Given the description of an element on the screen output the (x, y) to click on. 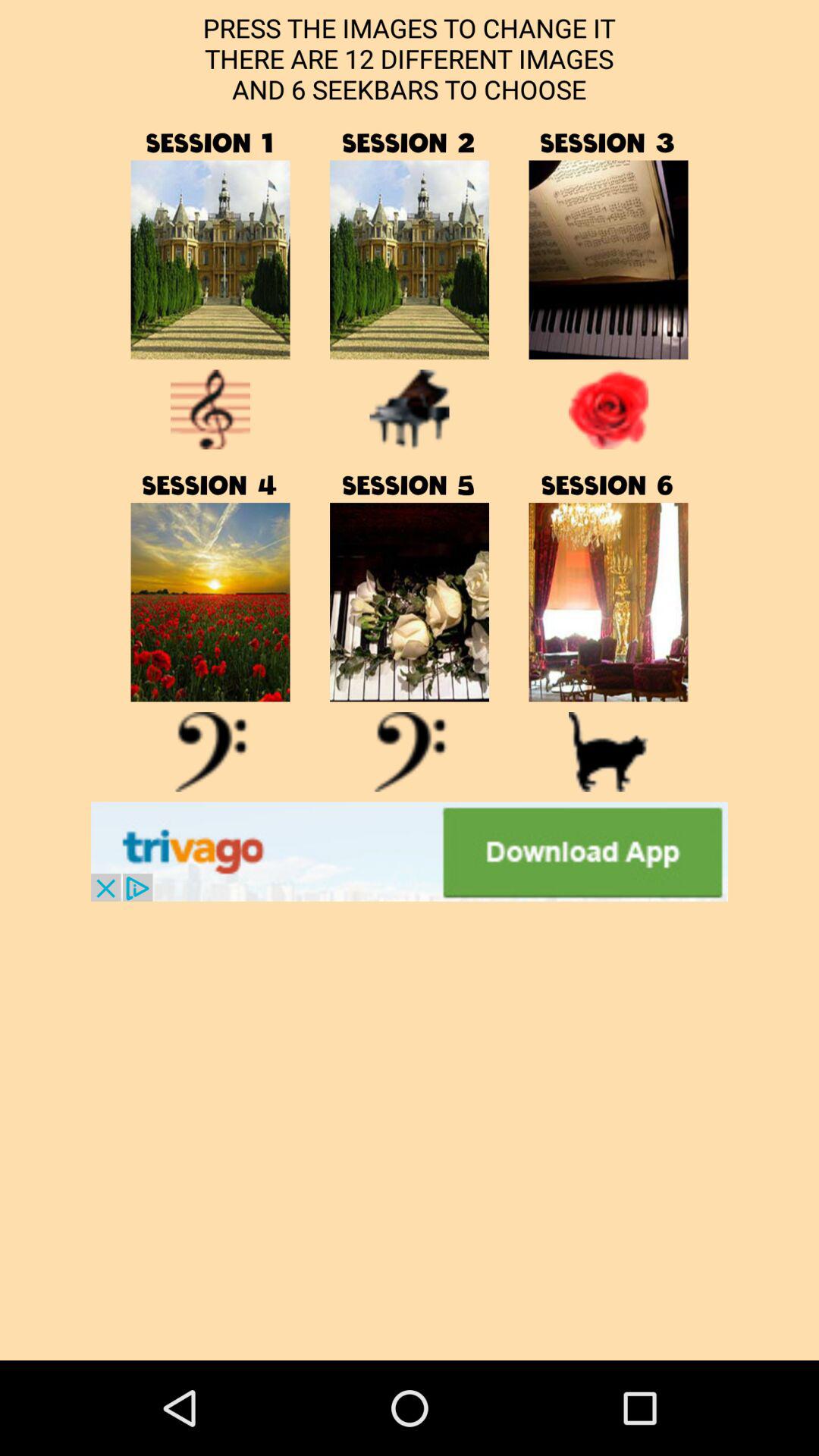
select session 3 (608, 259)
